Given the description of an element on the screen output the (x, y) to click on. 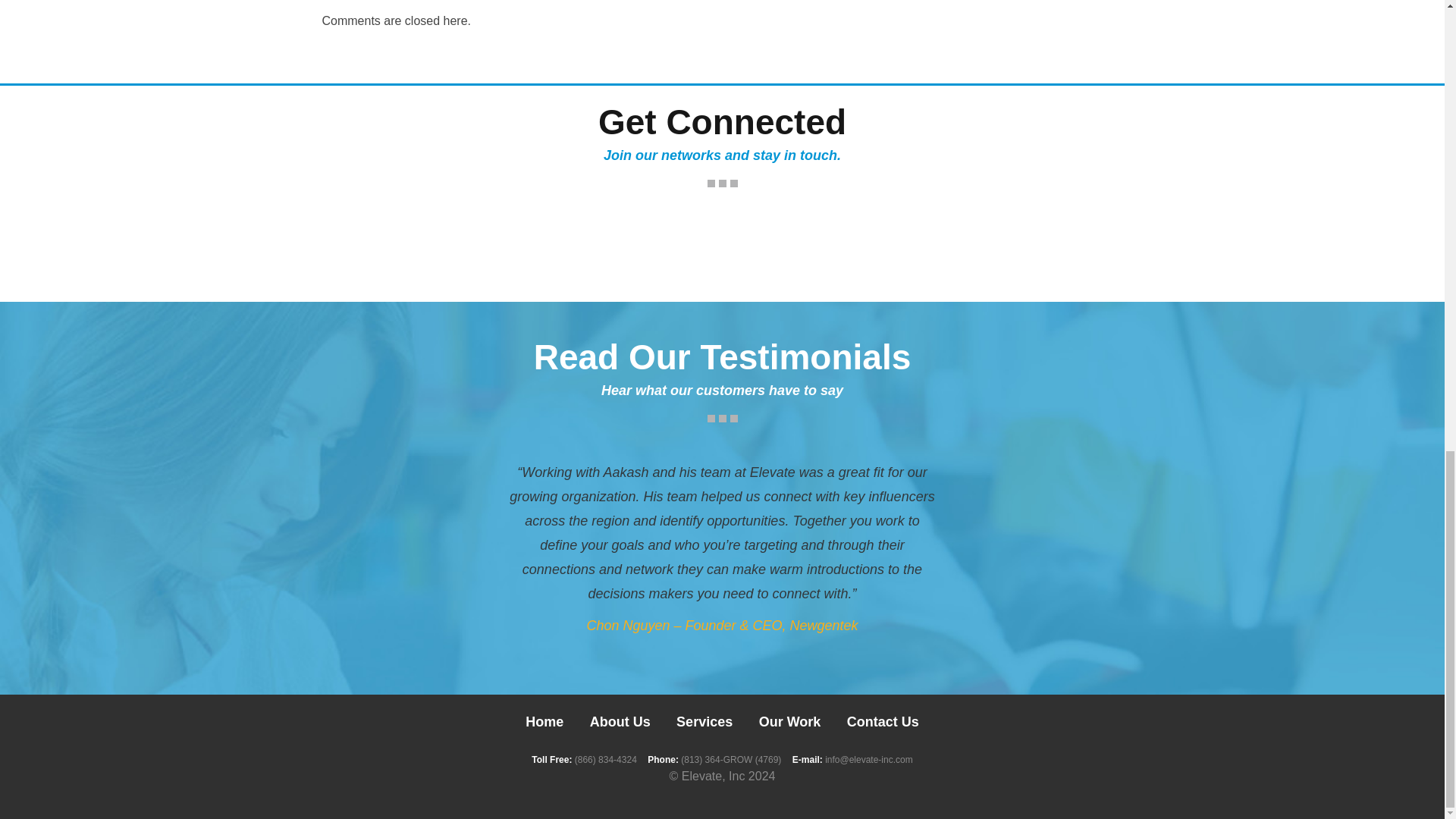
About Us (619, 721)
Home (544, 721)
